Given the description of an element on the screen output the (x, y) to click on. 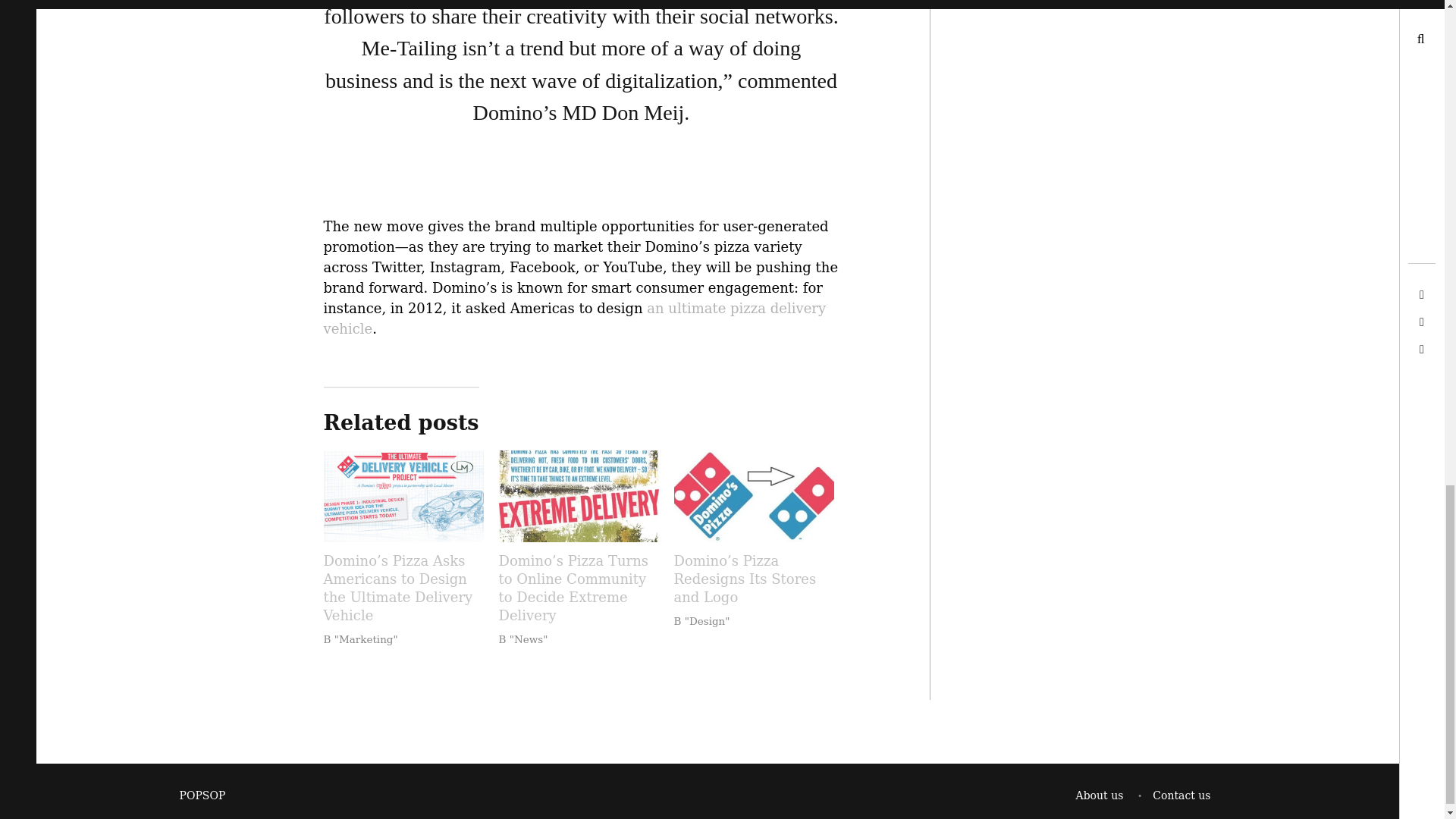
an ultimate pizza delivery vehicle (574, 319)
POPSOP (202, 795)
